Given the description of an element on the screen output the (x, y) to click on. 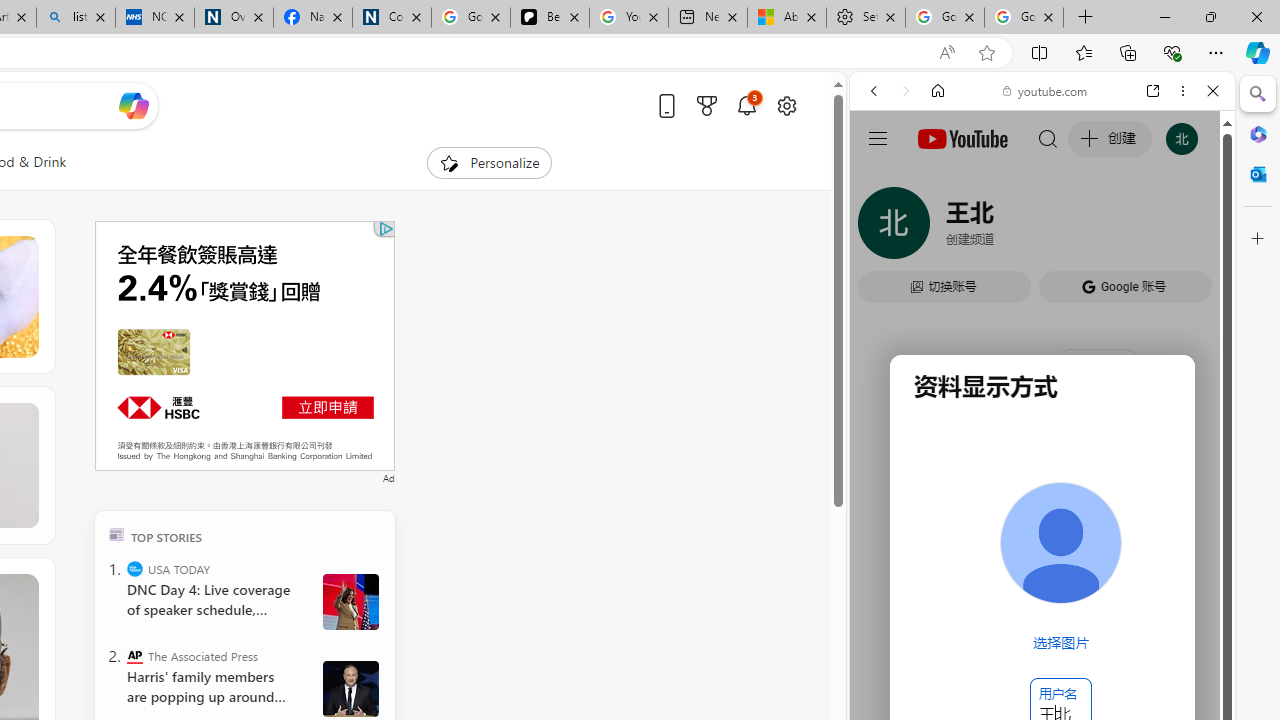
Cookies (392, 17)
Search Filter, VIDEOS (1006, 228)
Search videos from youtube.com (1005, 657)
Trailer #2 [HD] (1042, 594)
